Given the description of an element on the screen output the (x, y) to click on. 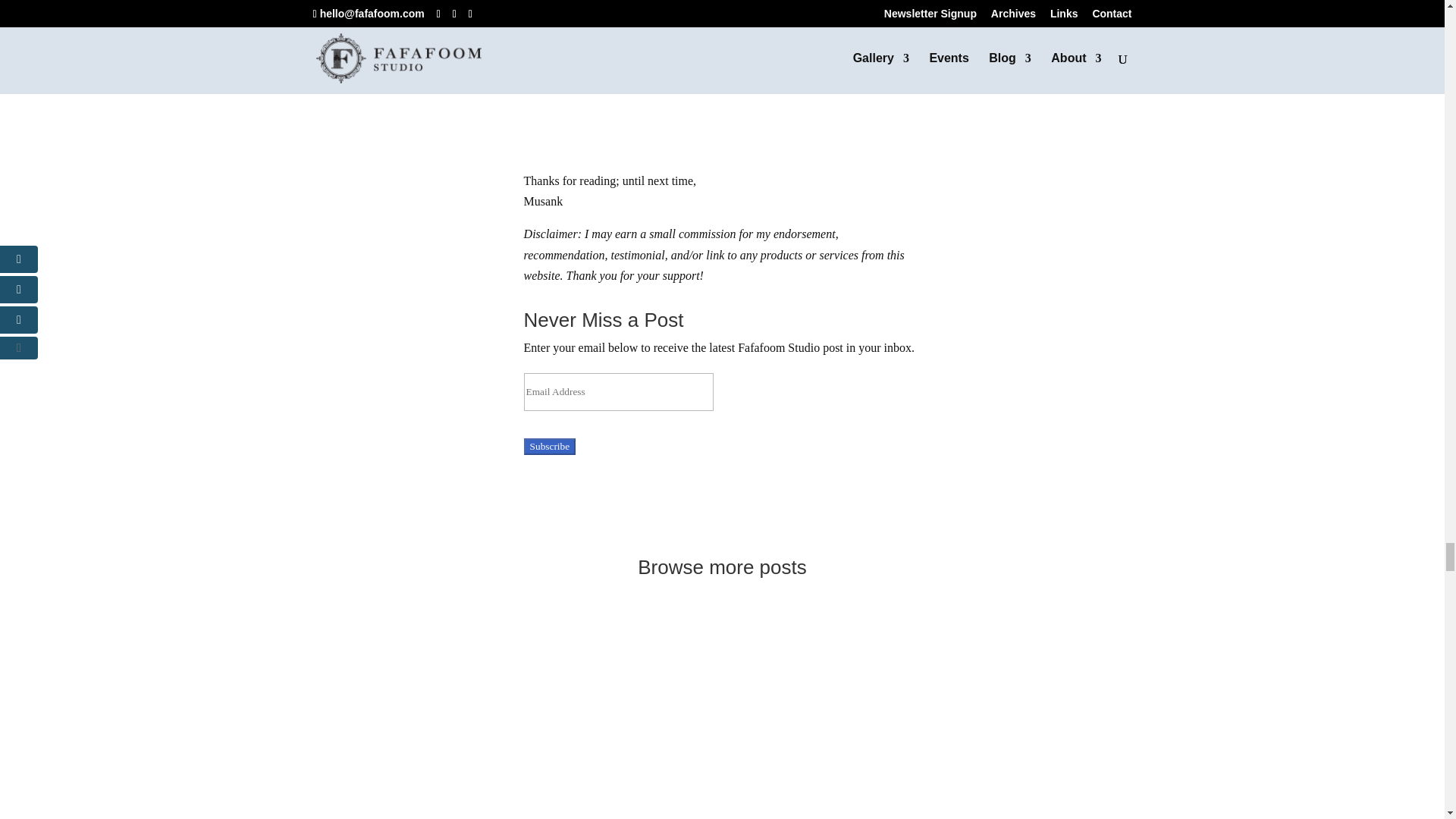
Subscribe (550, 446)
Follow on Instagram (681, 480)
Follow on Pinterest (773, 480)
Follow on Facebook (712, 480)
Follow on Twitter (742, 480)
Subscribe (550, 446)
